Given the description of an element on the screen output the (x, y) to click on. 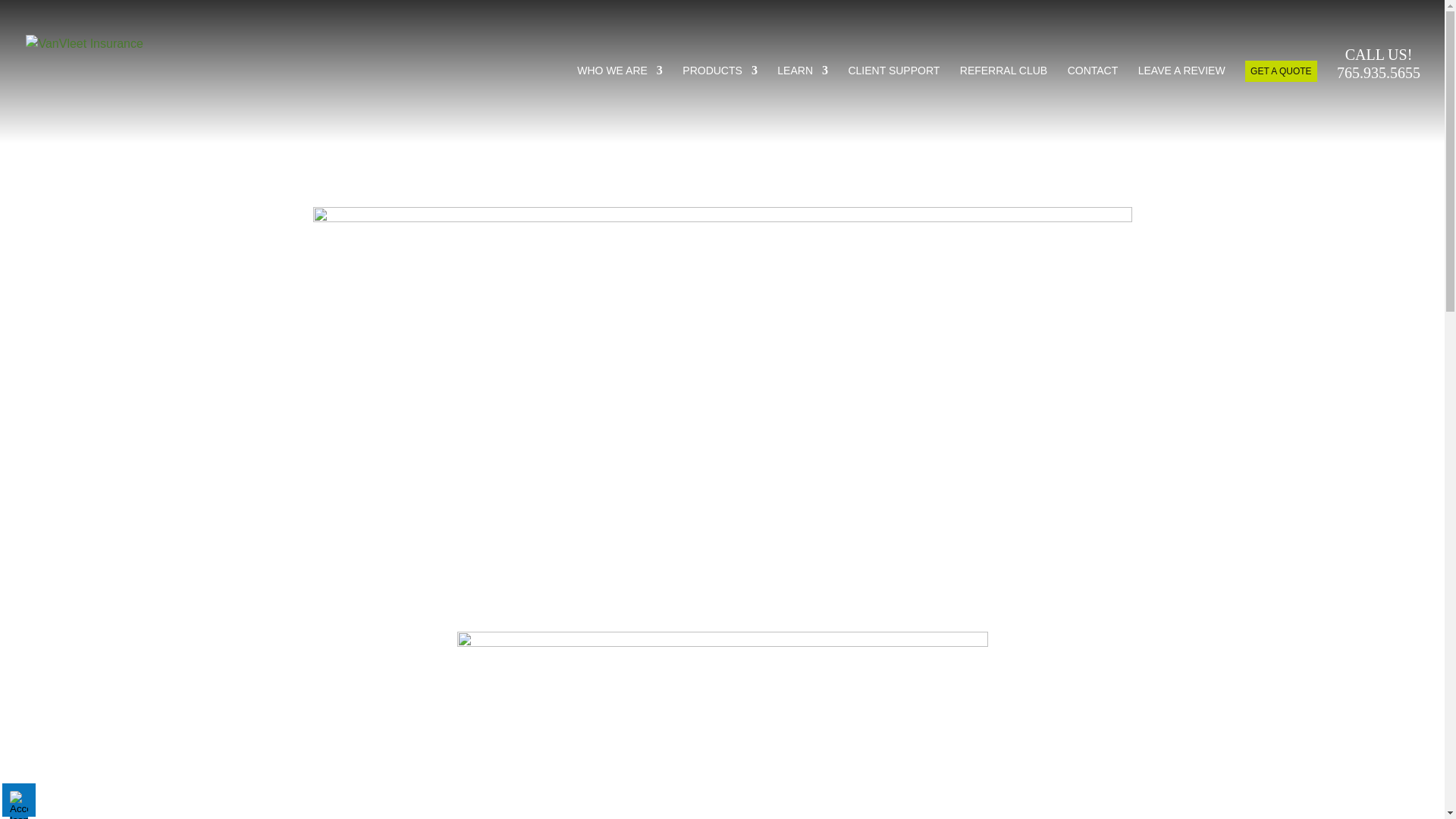
vanvleet pilgrams flat2 (722, 724)
GET A QUOTE (1280, 70)
Kelly VanVleet (689, 153)
CONTACT (1092, 100)
Posts by Kelly VanVleet (1378, 93)
WHO WE ARE (689, 153)
vanvleet pilgrams flat2 (619, 100)
PRODUCTS (893, 100)
LEAVE A REVIEW (719, 100)
LEARN (1181, 100)
REFERRAL CLUB (802, 100)
